Given the description of an element on the screen output the (x, y) to click on. 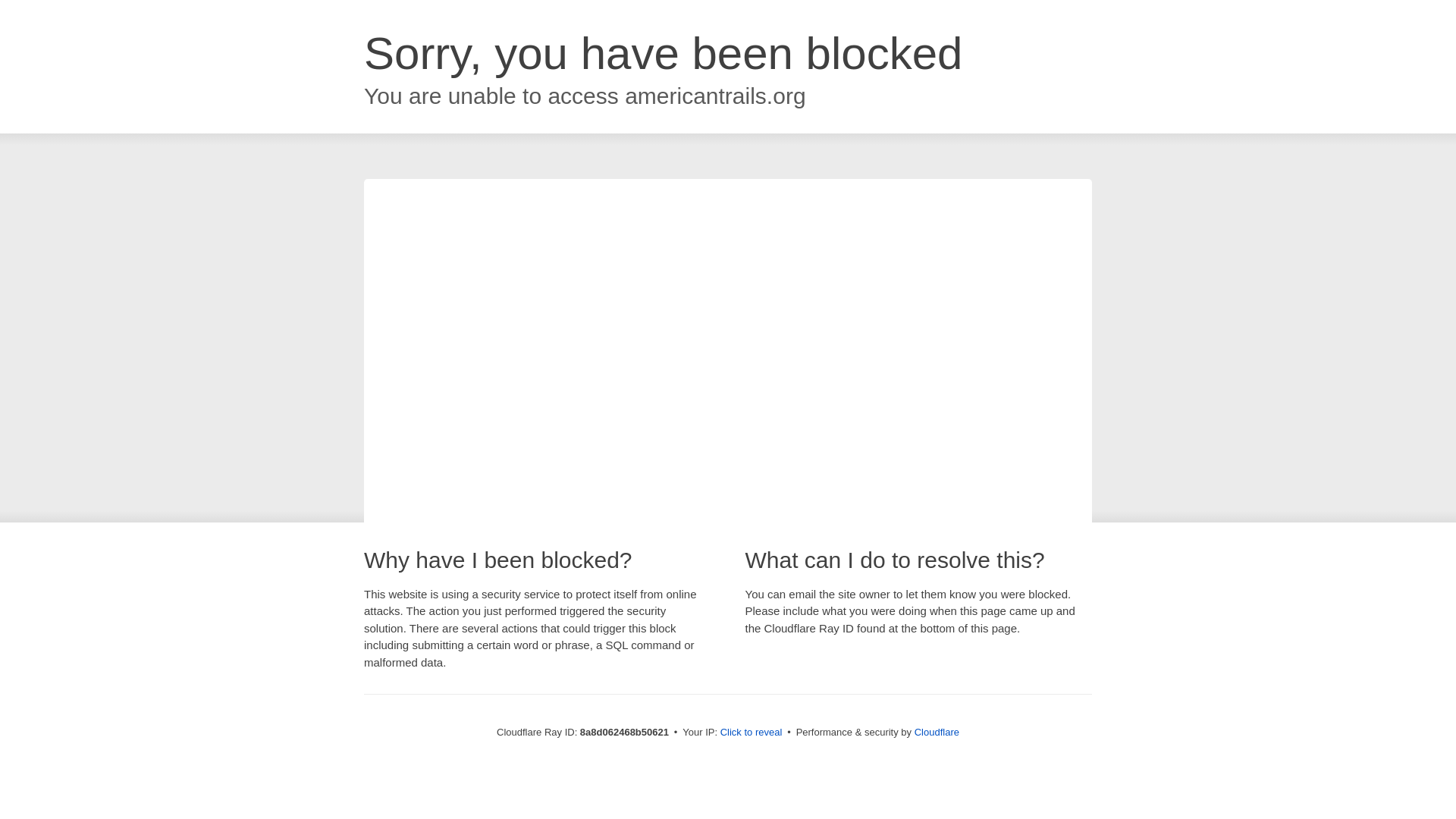
Click to reveal (751, 732)
Cloudflare (936, 731)
